Given the description of an element on the screen output the (x, y) to click on. 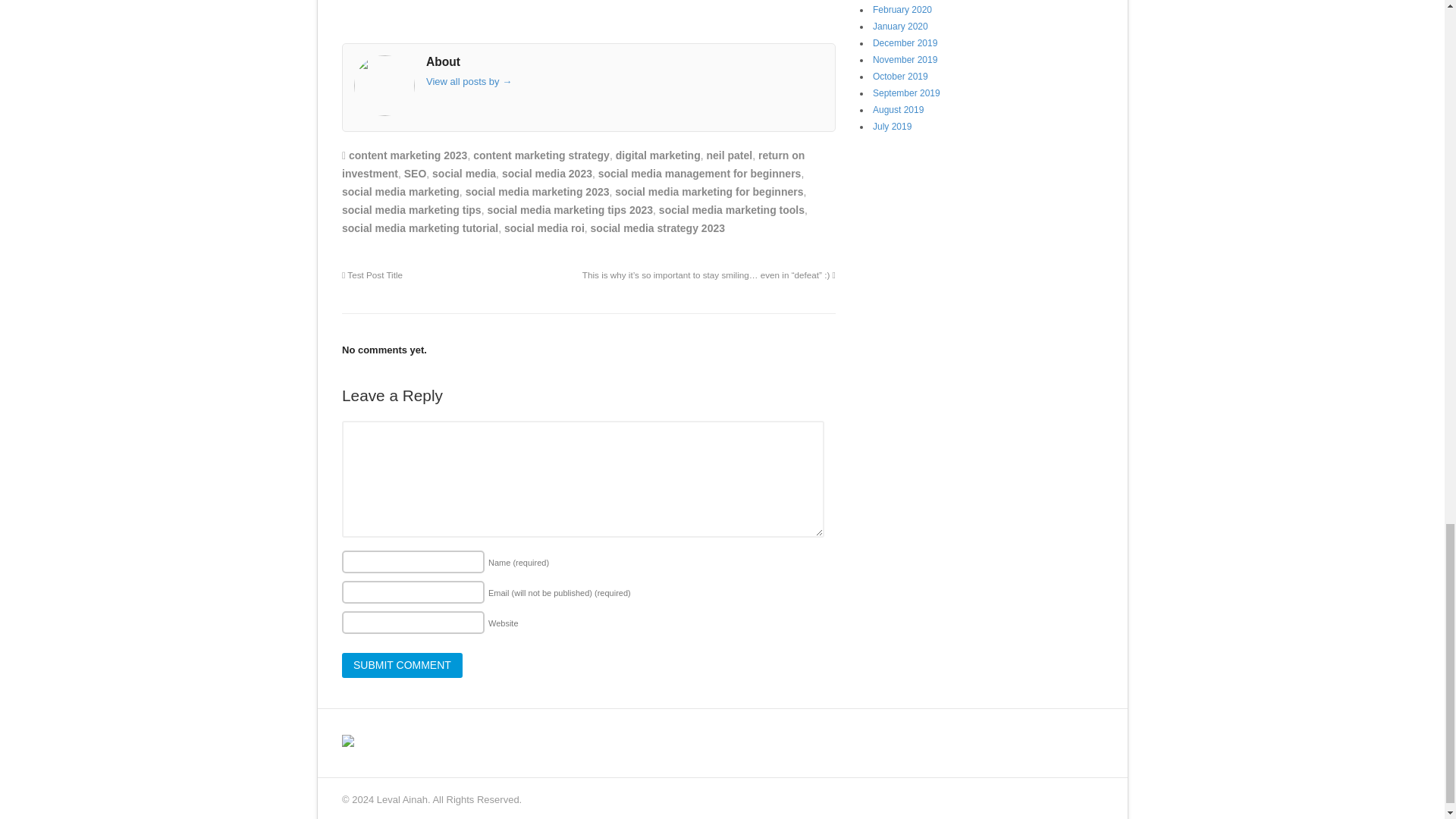
content marketing 2023 (408, 155)
social media roi (544, 227)
social media (464, 173)
social media marketing tools (732, 209)
SEO (415, 173)
content marketing strategy (541, 155)
social media management for beginners (700, 173)
Test Post Title (372, 275)
social media strategy 2023 (658, 227)
Submit Comment (402, 665)
